Given the description of an element on the screen output the (x, y) to click on. 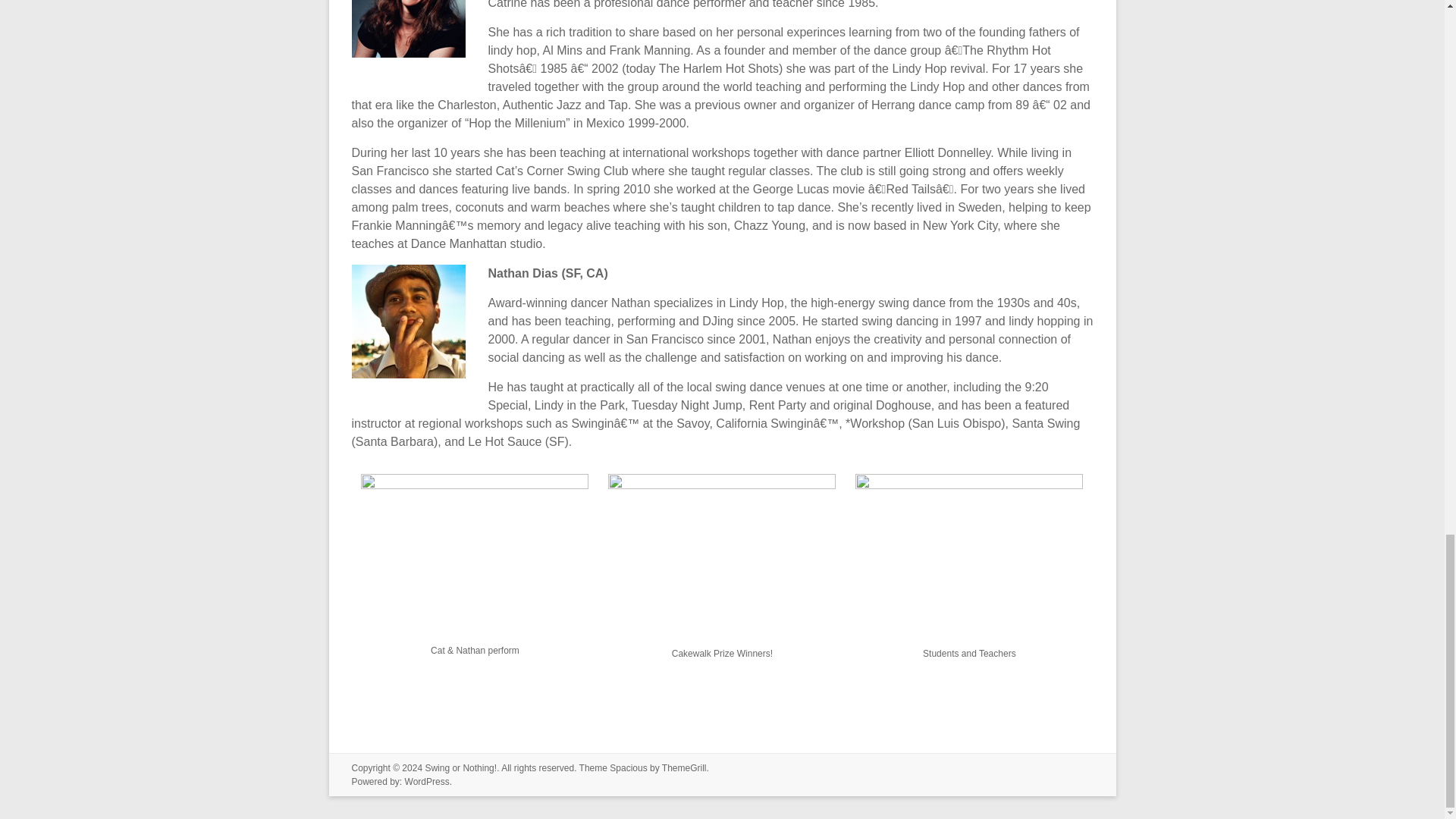
WordPress (426, 781)
Swing or Nothing! (460, 767)
WordPress (426, 781)
Spacious (628, 767)
Swing or Nothing! (460, 767)
Spacious (628, 767)
